Given the description of an element on the screen output the (x, y) to click on. 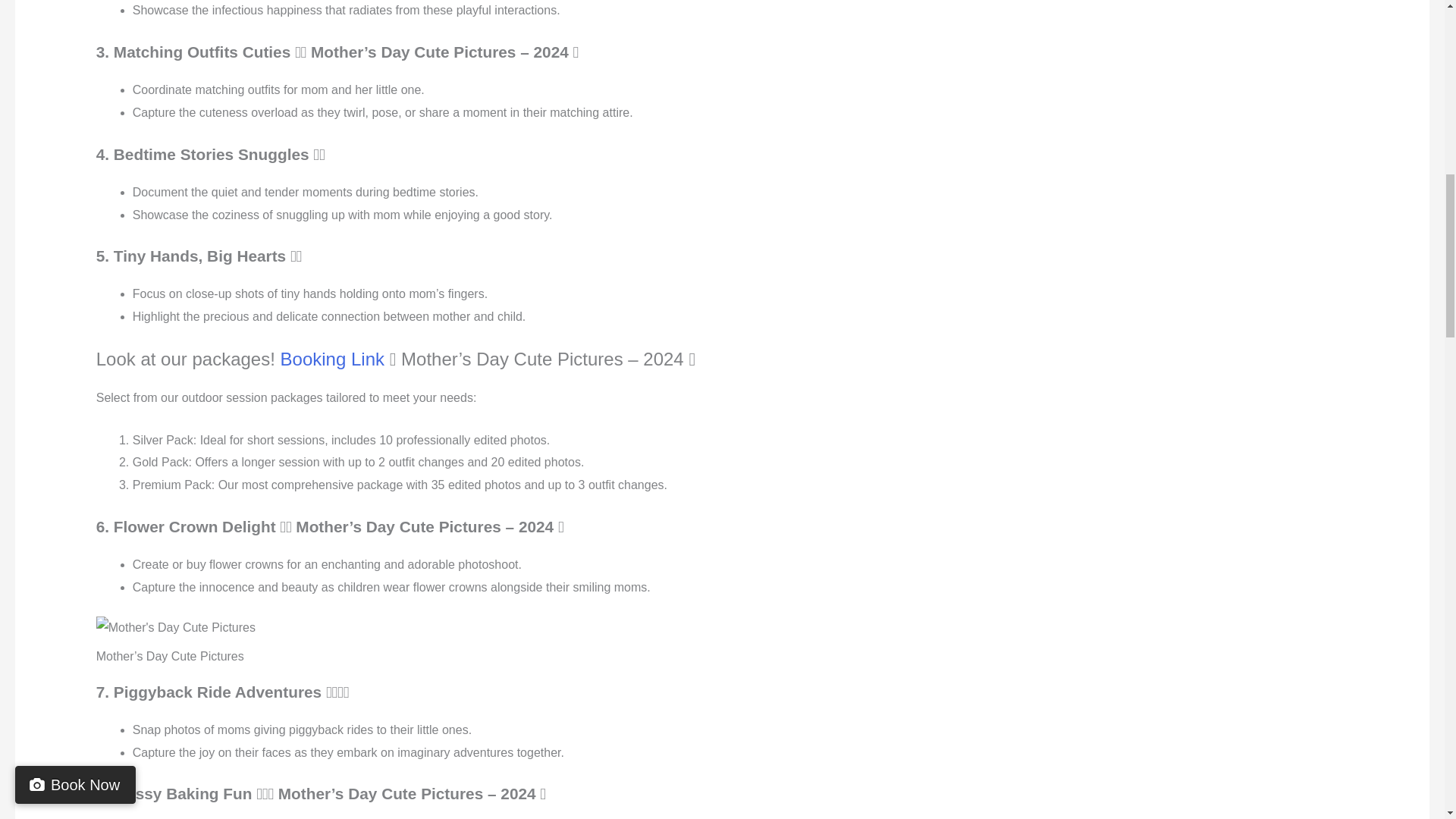
FareHarbor (1342, 64)
